Given the description of an element on the screen output the (x, y) to click on. 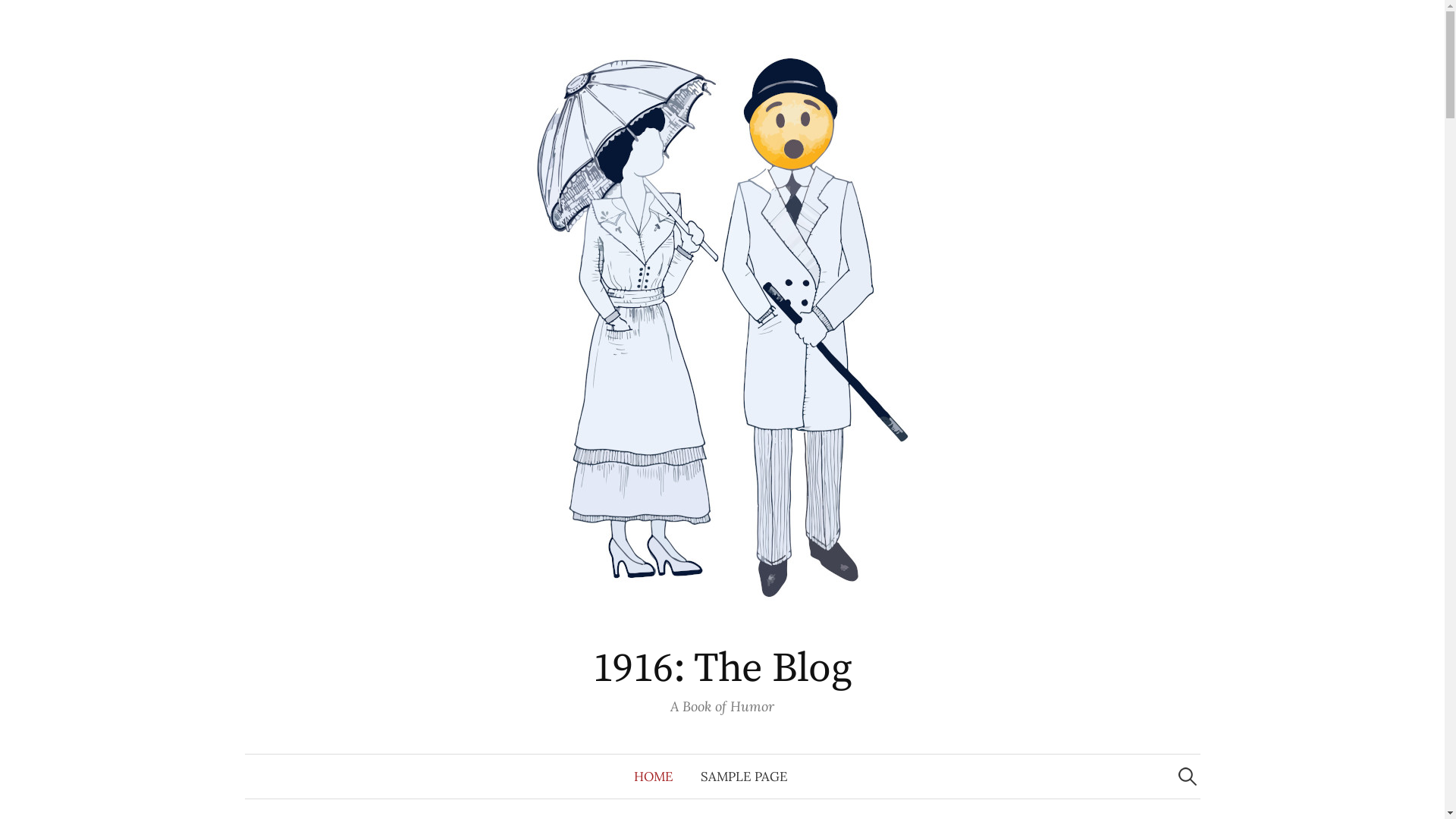
Search Element type: text (18, 18)
SAMPLE PAGE Element type: text (744, 776)
Search Element type: text (40, 17)
Skip to content Element type: text (30, 0)
HOME Element type: text (653, 776)
1916: The Blog Element type: text (722, 668)
